Given the description of an element on the screen output the (x, y) to click on. 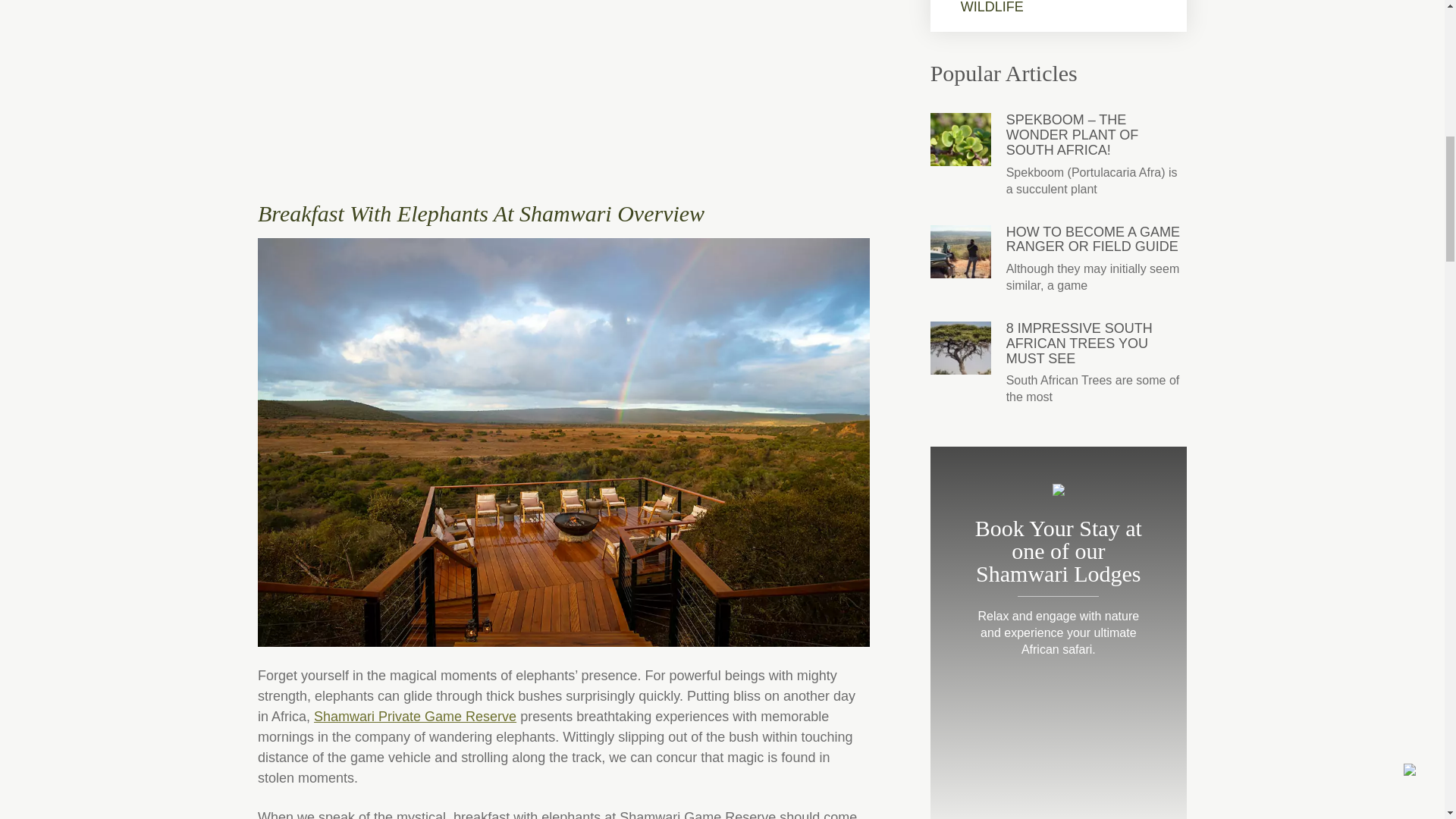
YouTube video player (563, 85)
Shamwari Private Game Reserve (415, 716)
